Given the description of an element on the screen output the (x, y) to click on. 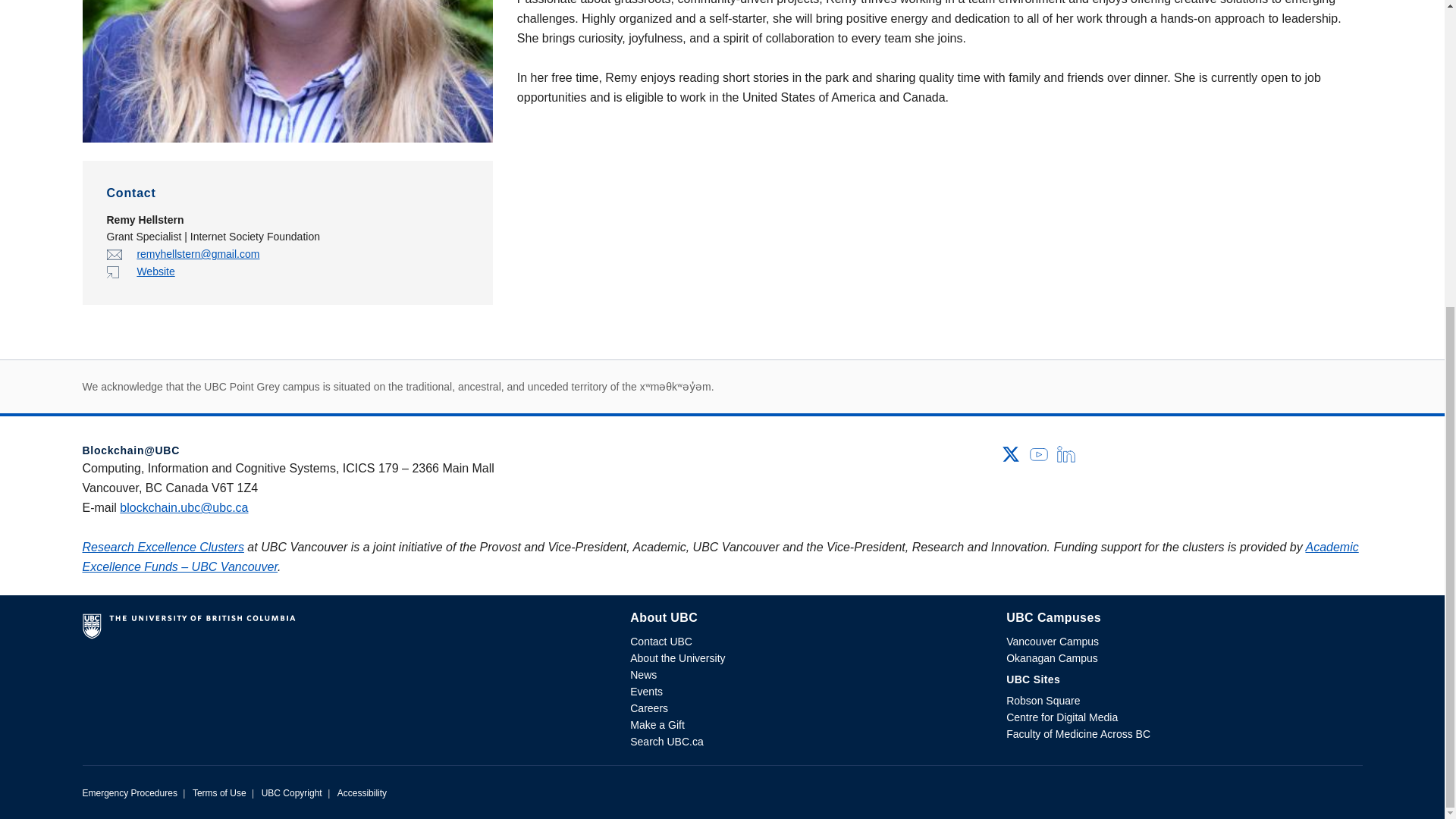
Connect with us on Linkedin (1066, 452)
Follow us on Twitter (1010, 452)
Watch us on Youtube (1038, 452)
